Given the description of an element on the screen output the (x, y) to click on. 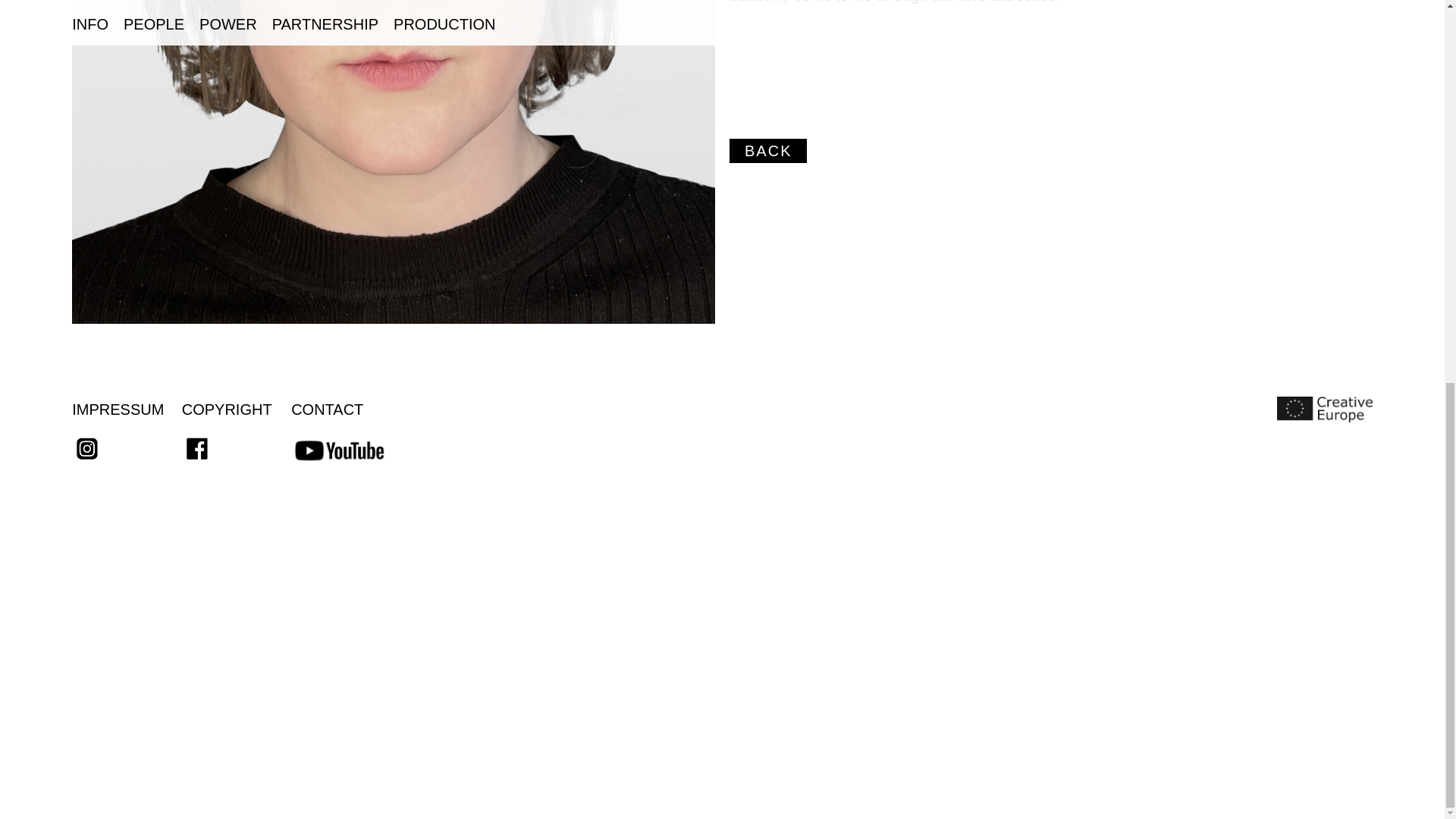
CONTACT (326, 409)
COPYRIGHT (227, 409)
IMPRESSUM (117, 409)
BACK (767, 150)
